Given the description of an element on the screen output the (x, y) to click on. 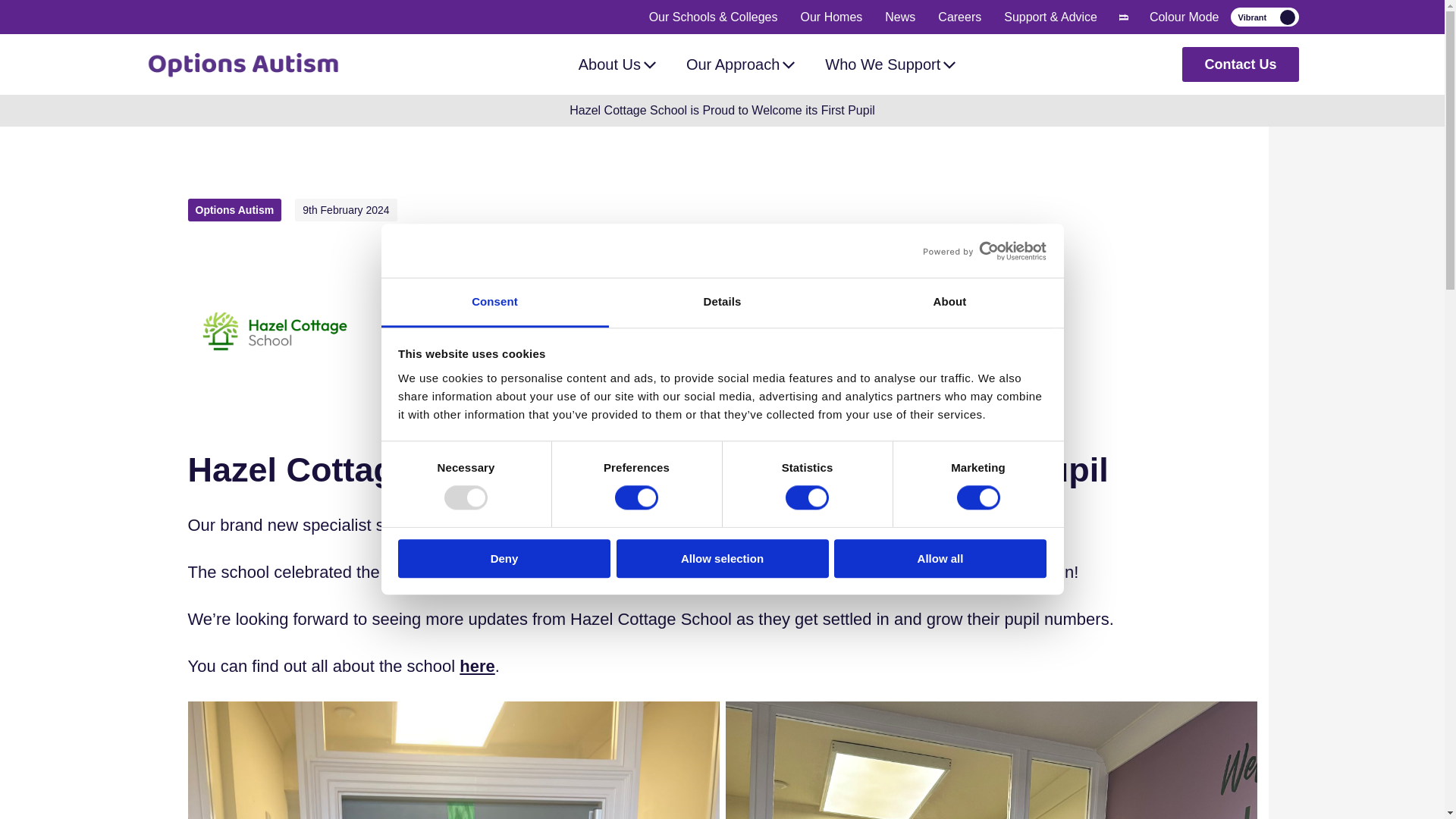
Careers (959, 16)
Allow selection (721, 558)
Our Approach (739, 64)
Consent (494, 302)
About (948, 302)
Allow all (940, 558)
News (900, 16)
About Us (617, 64)
Our Homes (831, 16)
Details (721, 302)
Our Homes (831, 16)
Deny (503, 558)
Careers (959, 16)
About Us (617, 64)
Who We Support (890, 64)
